Given the description of an element on the screen output the (x, y) to click on. 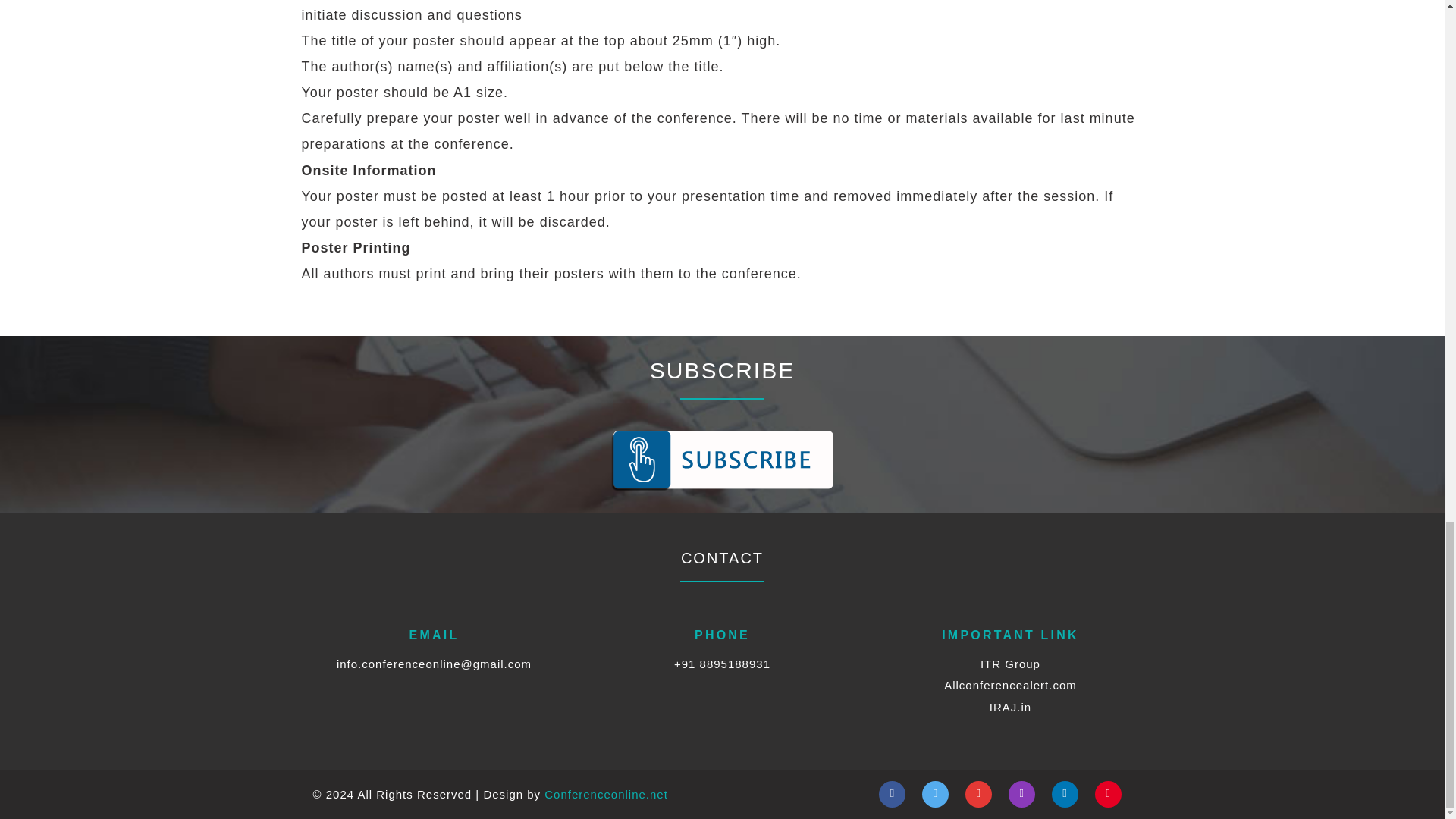
IRAJ.in (1010, 707)
ITR Group (1010, 663)
Conferenceonline.net (606, 793)
Allconferencealert.com (1010, 684)
